Given the description of an element on the screen output the (x, y) to click on. 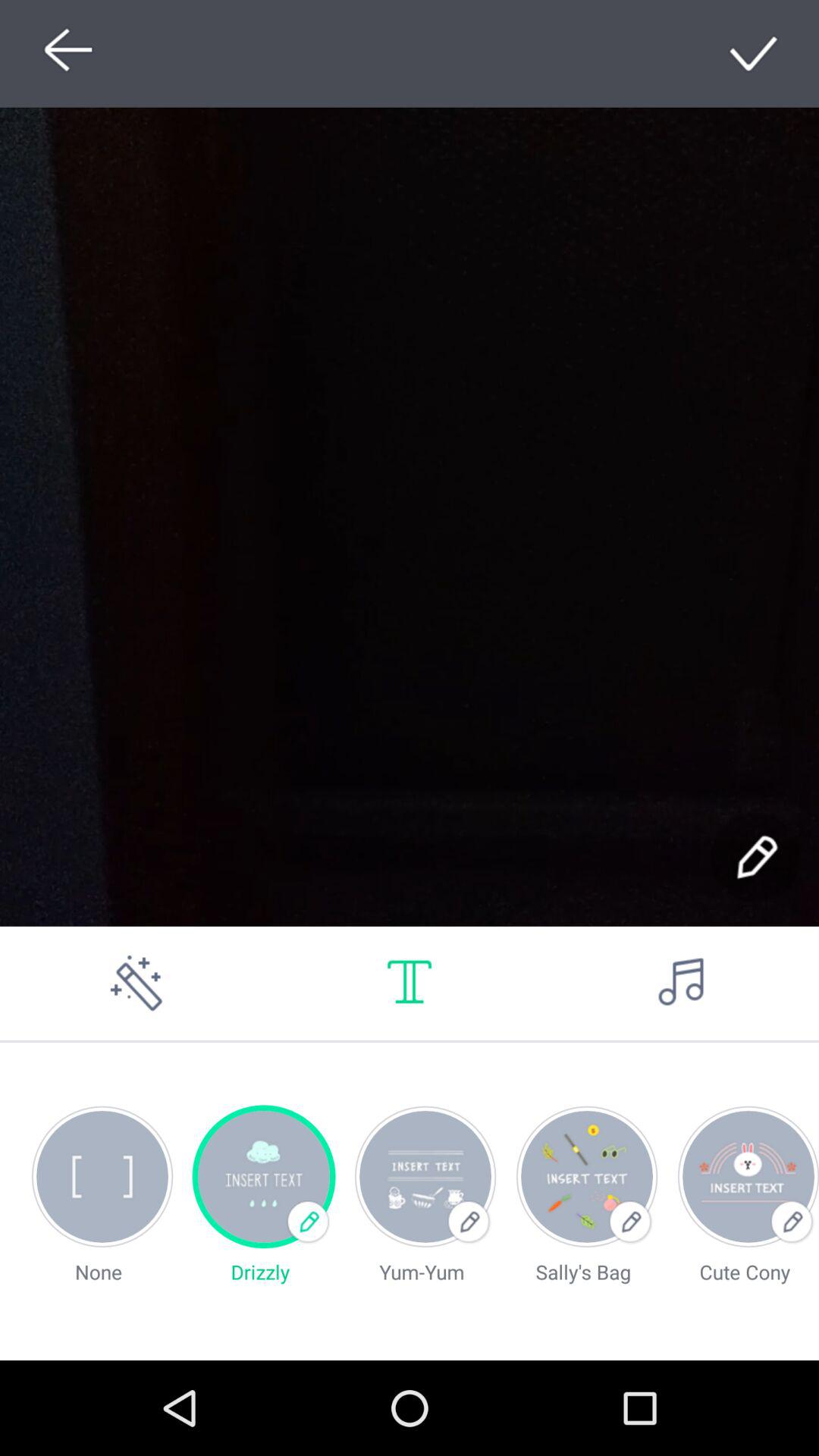
edited it (755, 857)
